Given the description of an element on the screen output the (x, y) to click on. 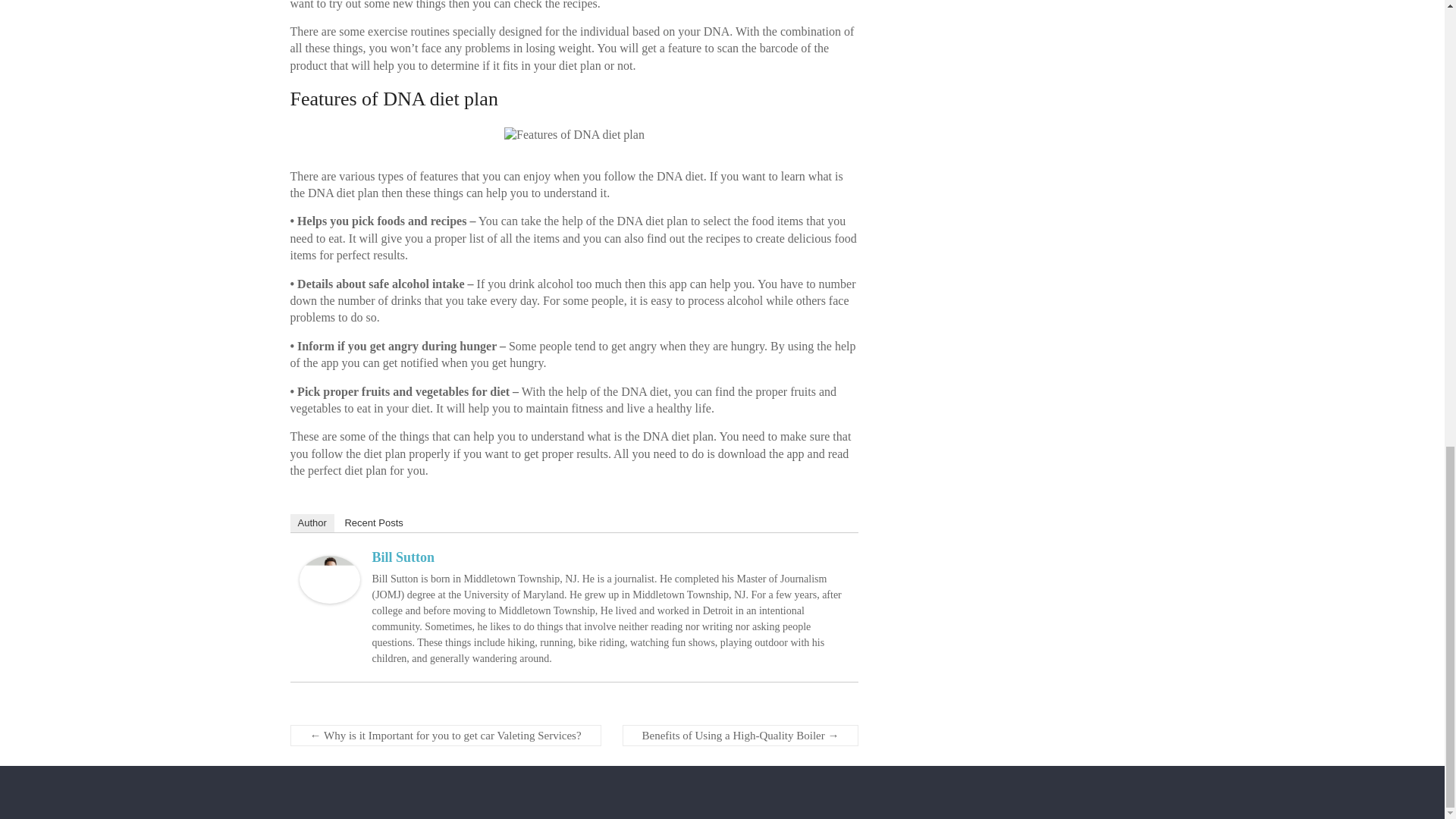
Author (311, 523)
Bill Sutton (402, 557)
Recent Posts (373, 523)
Bill Sutton (328, 562)
